Given the description of an element on the screen output the (x, y) to click on. 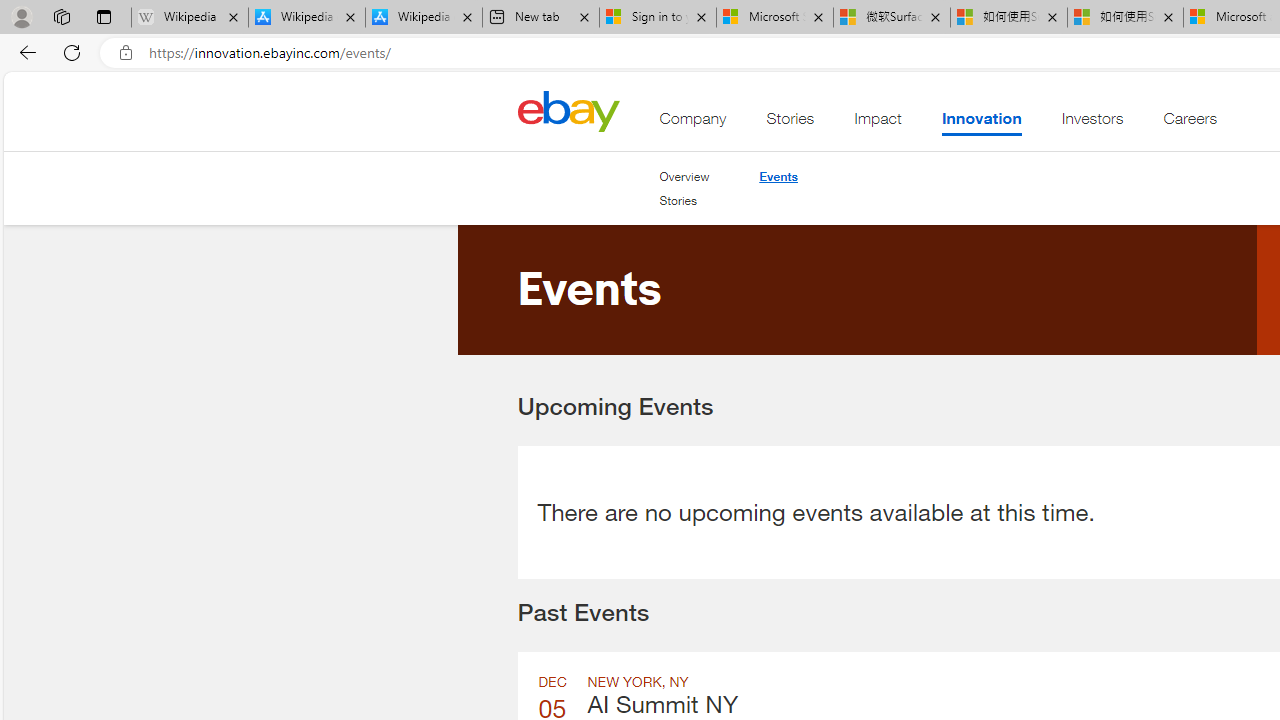
Investors (1092, 123)
Impact (877, 123)
Investors (1092, 123)
Careers (1190, 123)
Innovation . This is the current section. (980, 123)
Innovation (980, 123)
Company (693, 123)
Impact (877, 123)
Class: desktop (568, 110)
Stories (678, 200)
